Given the description of an element on the screen output the (x, y) to click on. 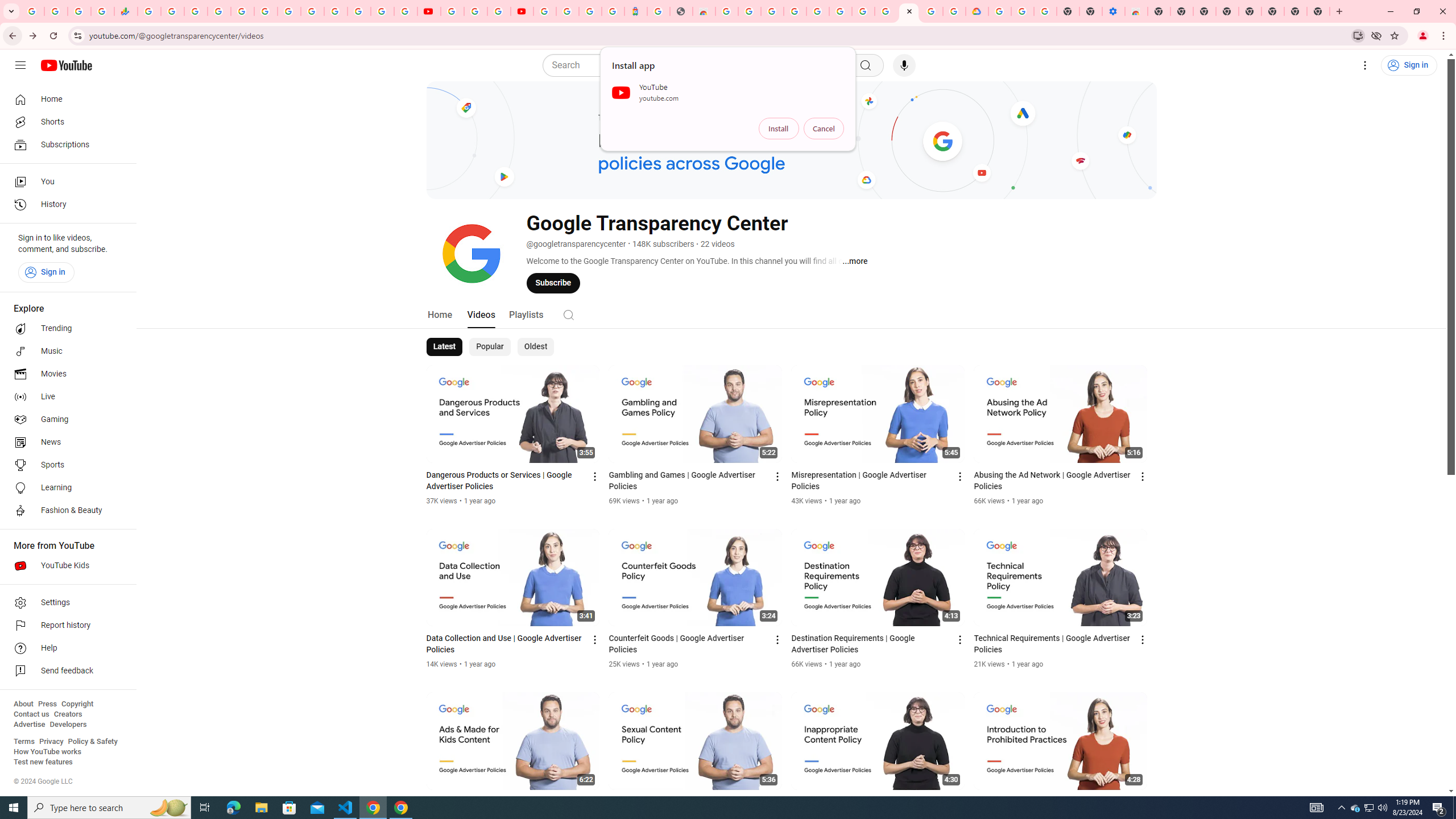
Sign in - Google Accounts (545, 11)
Android TV Policies and Guidelines - Transparency Center (885, 11)
Settings (64, 602)
Sign in - Google Accounts (817, 11)
Help (64, 648)
Google Account Help (1022, 11)
Google Transparency Center - YouTube (909, 11)
